Given the description of an element on the screen output the (x, y) to click on. 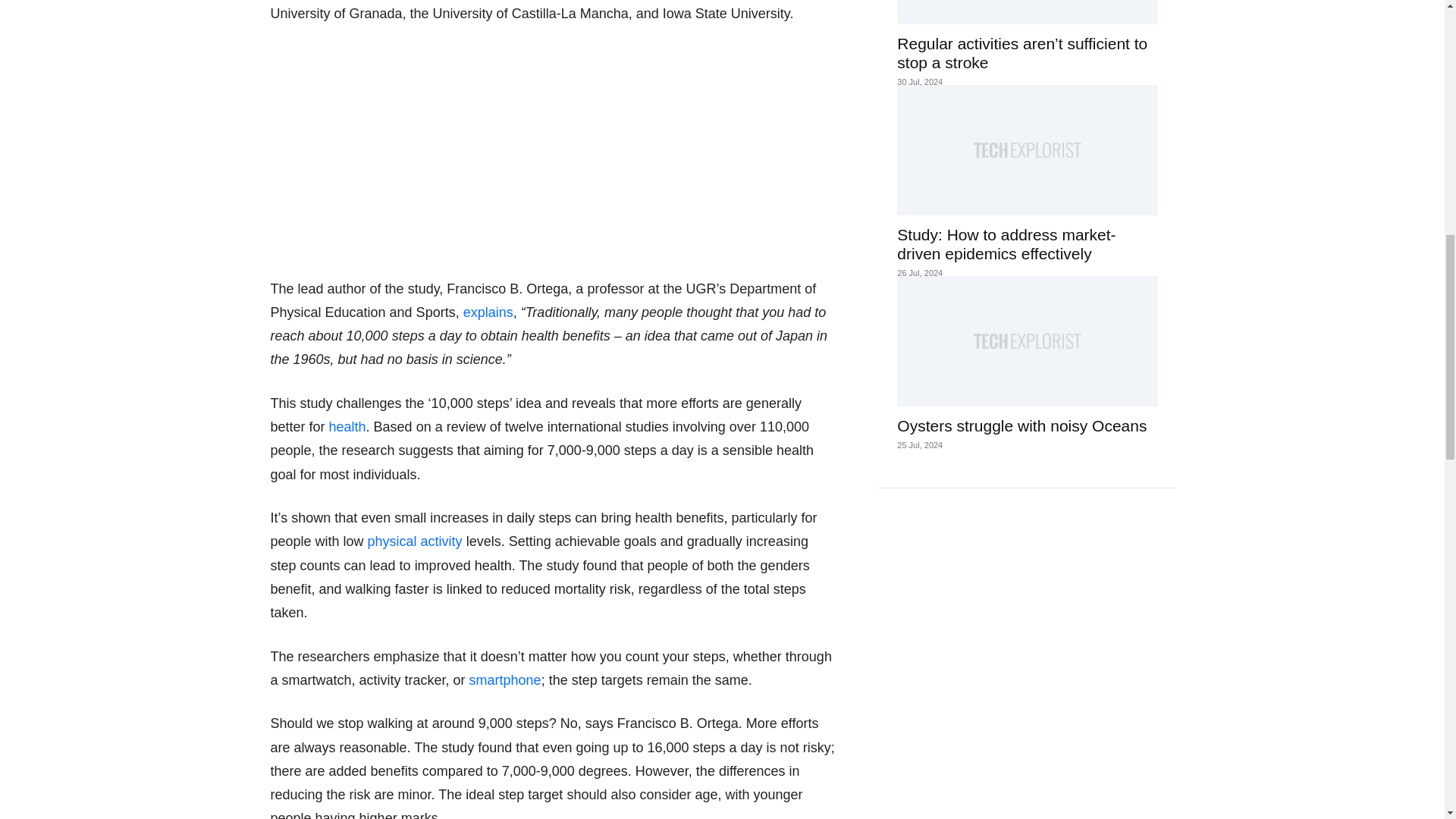
explains (488, 312)
